Given the description of an element on the screen output the (x, y) to click on. 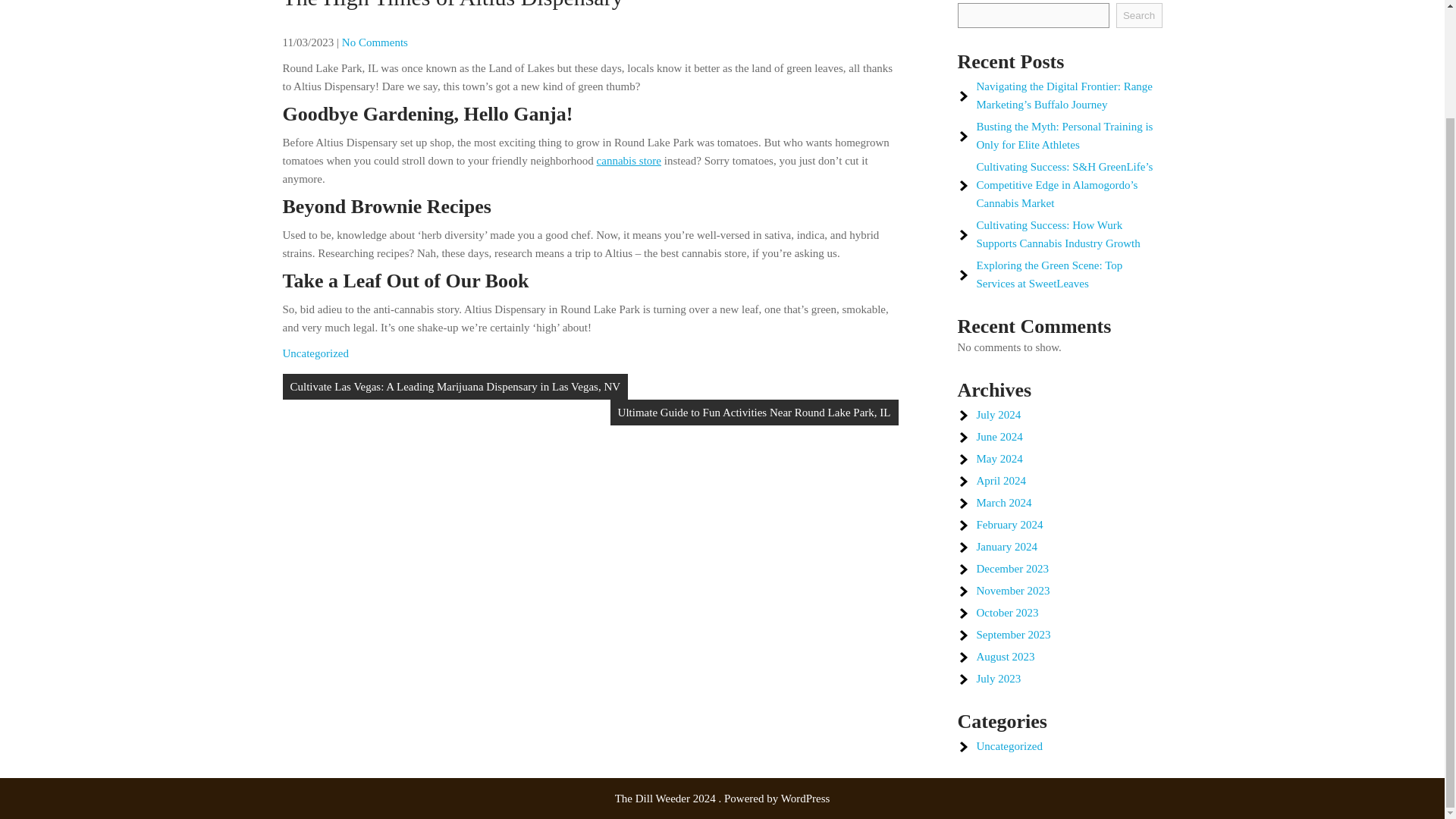
December 2023 (1012, 568)
January 2024 (1006, 546)
May 2024 (999, 458)
October 2023 (1007, 612)
November 2023 (1012, 590)
February 2024 (1009, 524)
The Dill Weeder 2024 . Powered by WordPress (721, 798)
Uncategorized (314, 353)
July 2024 (999, 414)
Uncategorized (1009, 746)
Exploring the Green Scene: Top Services at SweetLeaves (1049, 274)
March 2024 (1004, 502)
July 2023 (999, 678)
